Given the description of an element on the screen output the (x, y) to click on. 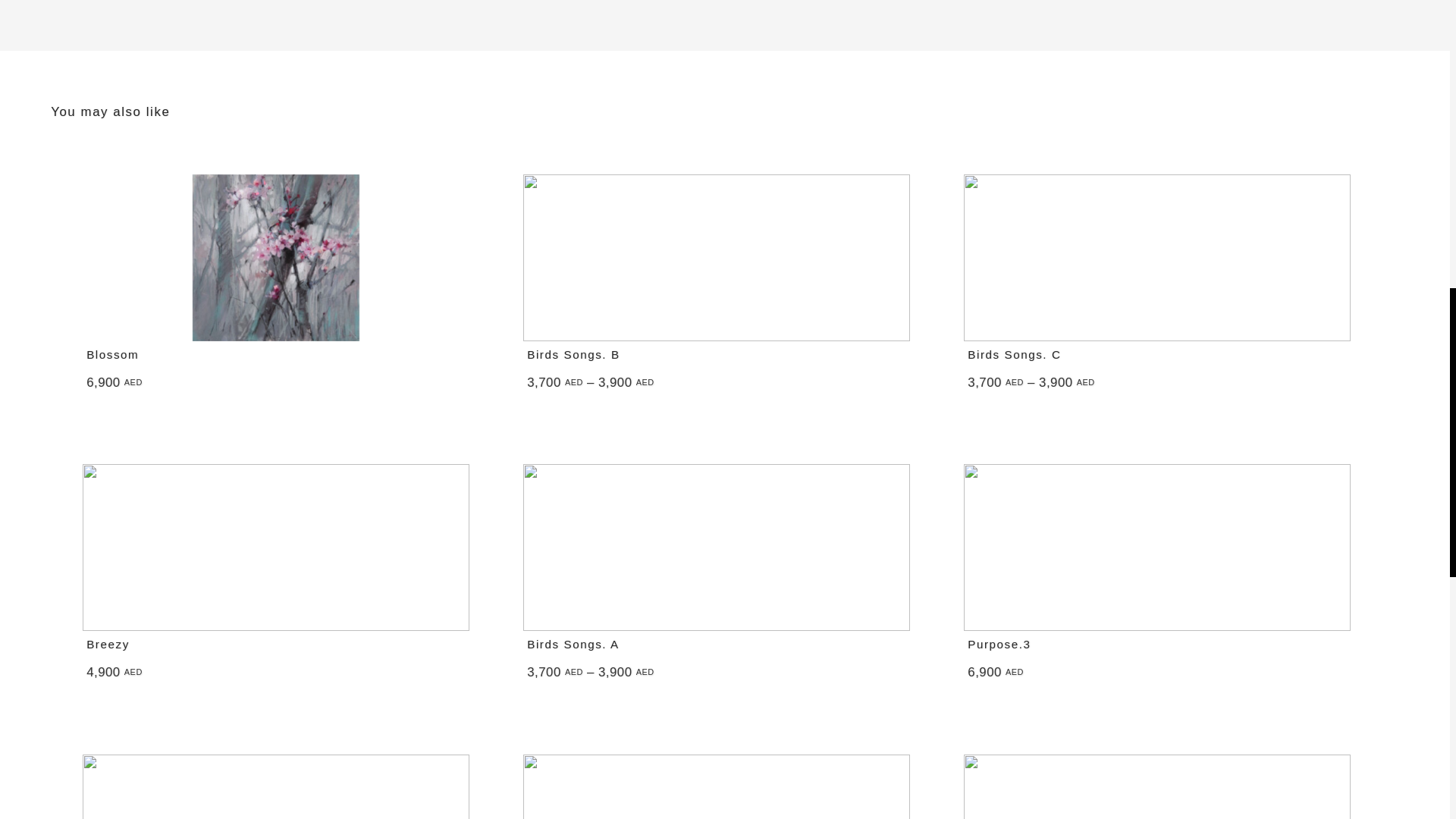
Breezy (107, 644)
Birds Songs. C (1014, 354)
Birds Songs. B (573, 354)
Blossom (111, 354)
